Given the description of an element on the screen output the (x, y) to click on. 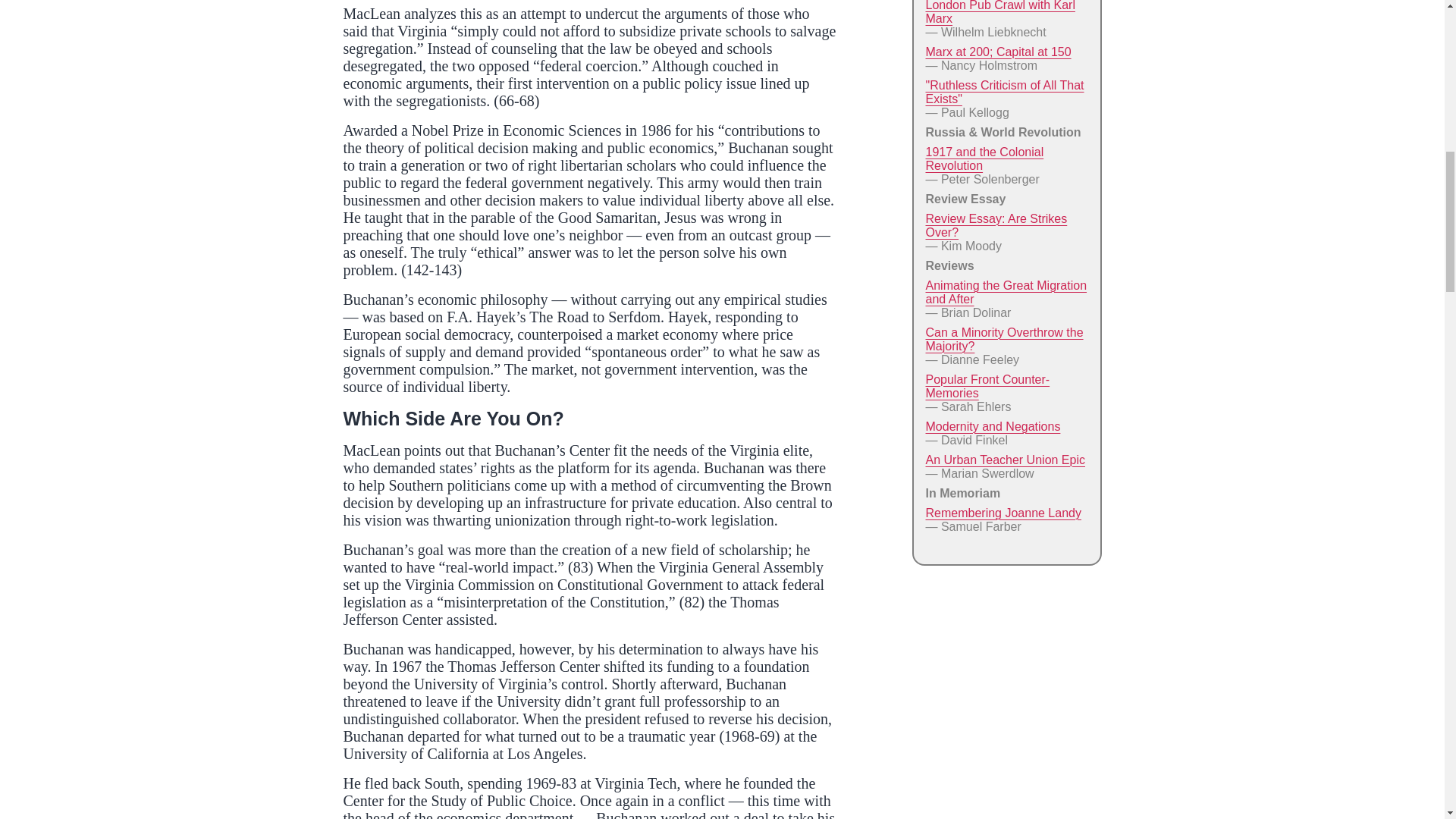
1917 and the Colonial Revolution (983, 158)
Can a Minority Overthrow the Majority? (1003, 338)
Marx at 200; Capital at 150 (997, 51)
London Pub Crawl with Karl Marx (999, 12)
Animating the Great Migration and After (1005, 292)
Review Essay: Are Strikes Over? (995, 225)
Remembering Joanne Landy (1002, 512)
An Urban Teacher Union Epic (1004, 459)
Modernity and Negations (991, 426)
"Ruthless Criticism of All That Exists" (1003, 91)
Popular Front Counter-Memories (986, 386)
